Given the description of an element on the screen output the (x, y) to click on. 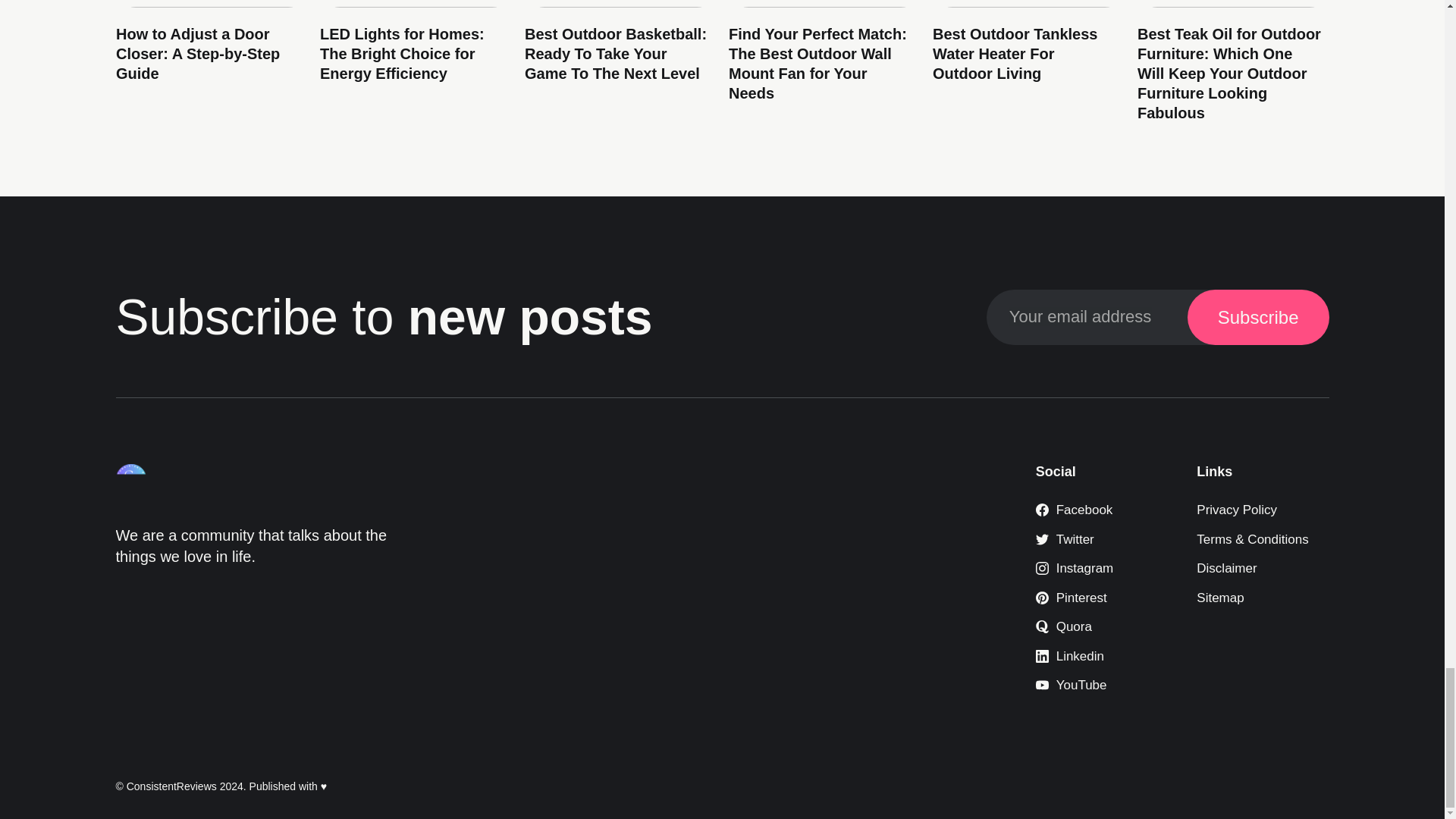
How to Adjust a Door Closer: A Step-by-Step Guide (197, 53)
